Given the description of an element on the screen output the (x, y) to click on. 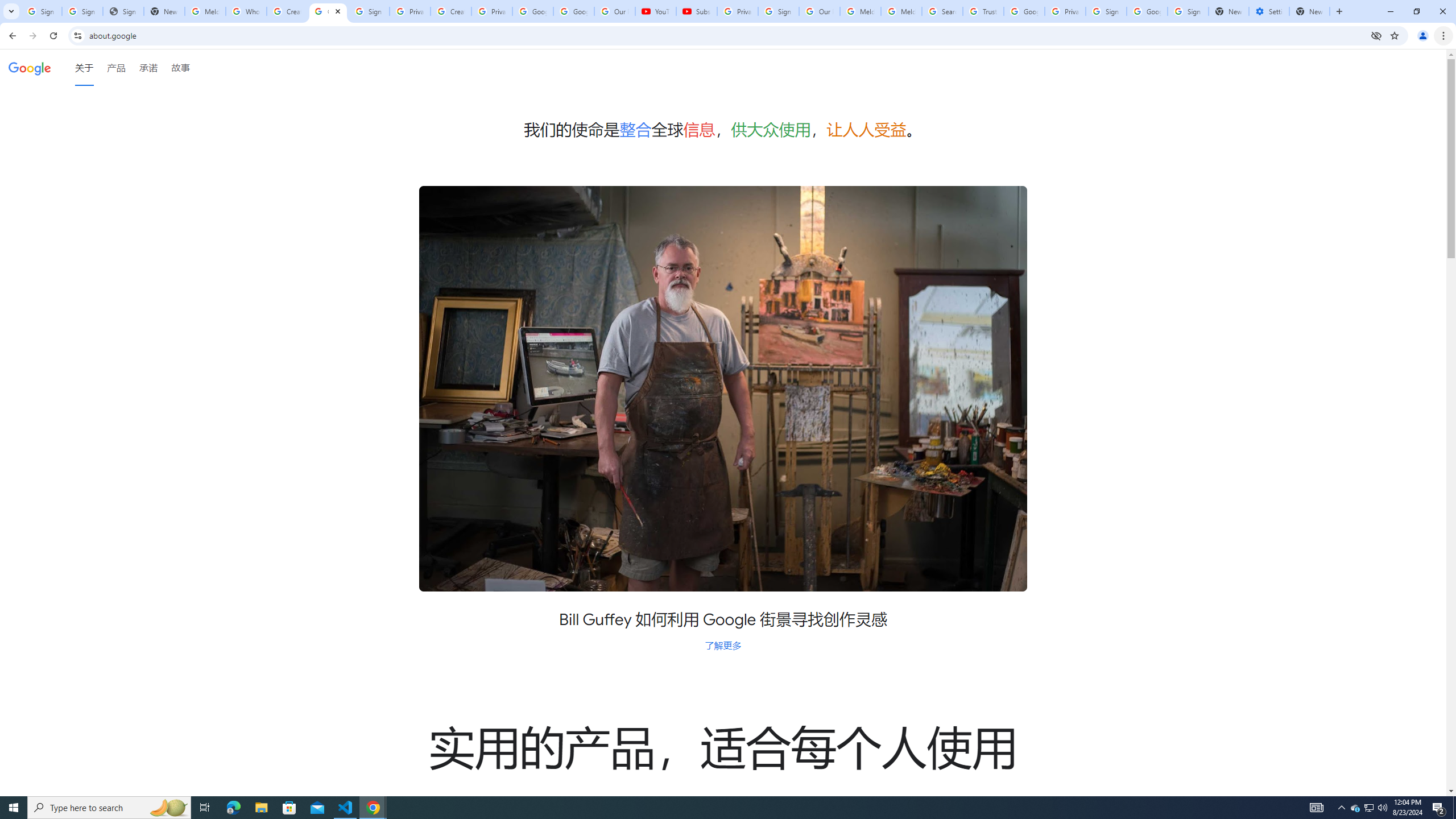
Sign in - Google Accounts (368, 11)
Sign in - Google Accounts (1105, 11)
New Tab (1309, 11)
Trusted Information and Content - Google Safety Center (983, 11)
Google Ads - Sign in (1023, 11)
Create your Google Account (287, 11)
